Given the description of an element on the screen output the (x, y) to click on. 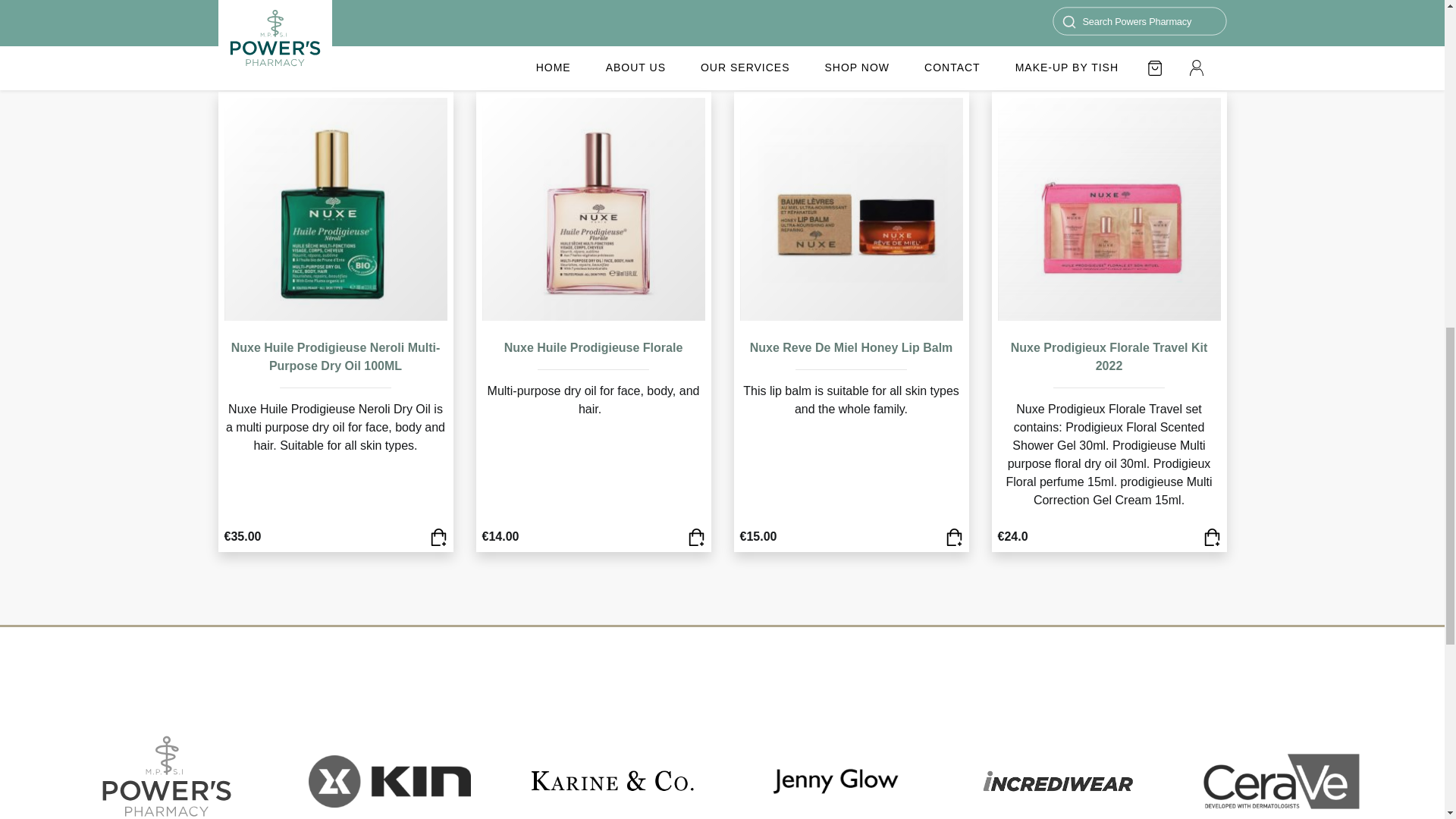
Shop Nuxe Prodigieux Florale Travel Kit 2022 (1211, 535)
Shop Nuxe Reve De Miel Honey Lip Balm (850, 348)
Shop Nuxe Huile Prodigieuse Florale (695, 535)
Shop Nuxe Huile Prodigieuse Florale (592, 348)
Shop Nuxe Prodigieux Florale Travel Kit 2022 (1109, 357)
Shop Nuxe Reve De Miel Honey Lip Balm (953, 535)
